Given the description of an element on the screen output the (x, y) to click on. 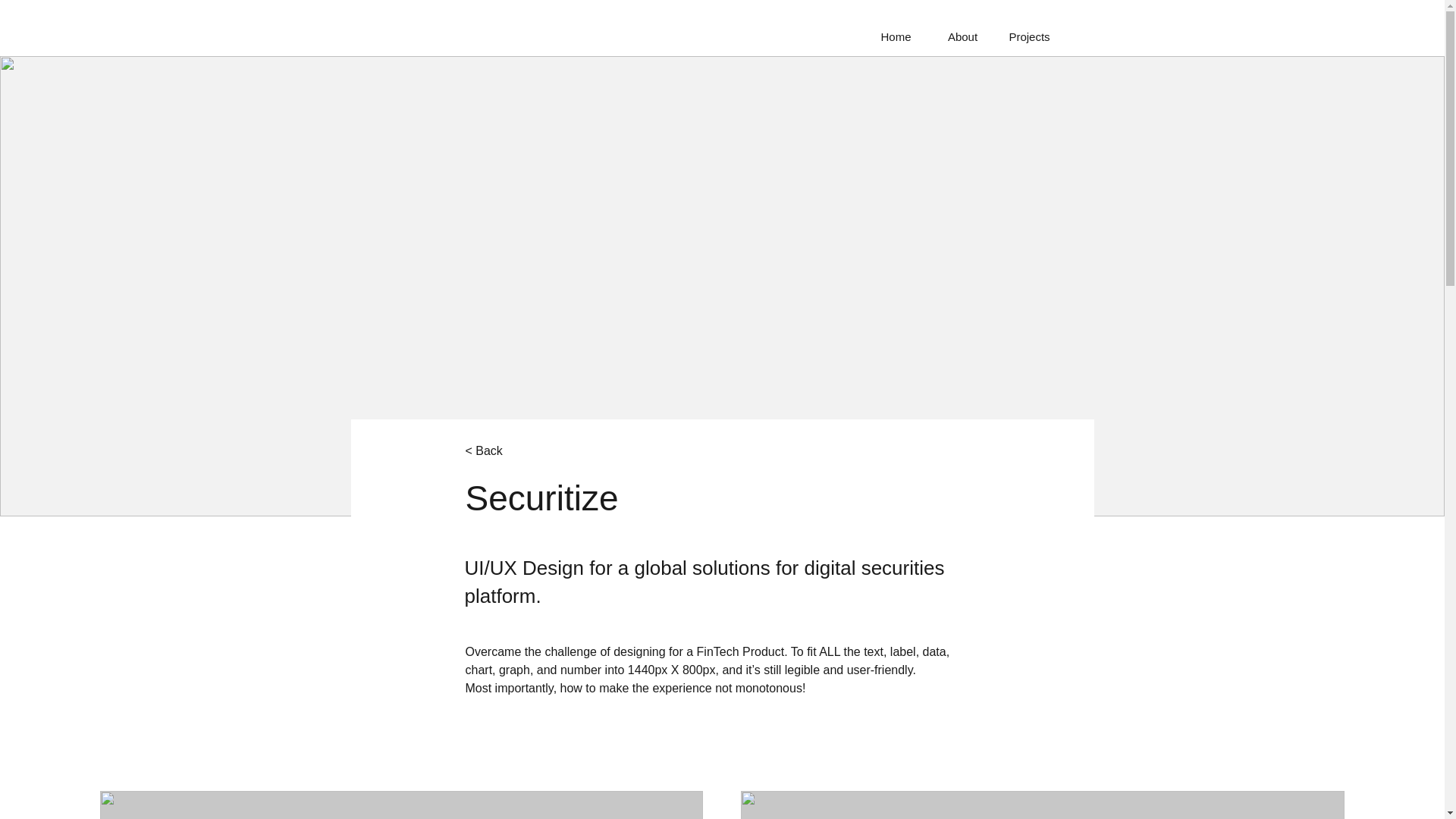
Home (896, 37)
Projects (1028, 37)
About (962, 37)
